Given the description of an element on the screen output the (x, y) to click on. 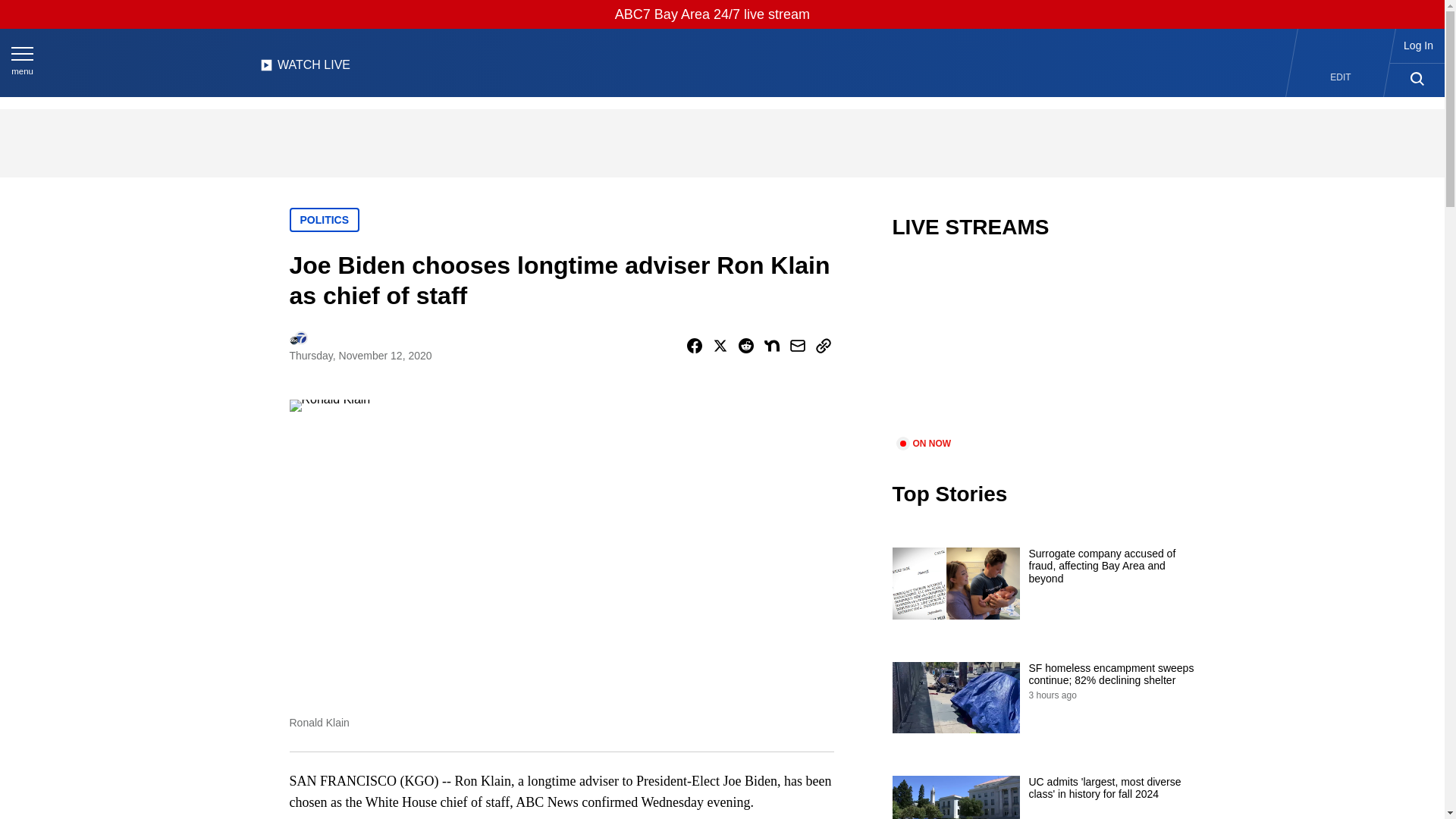
video.title (1043, 347)
WATCH LIVE (305, 69)
EDIT (1340, 77)
